Given the description of an element on the screen output the (x, y) to click on. 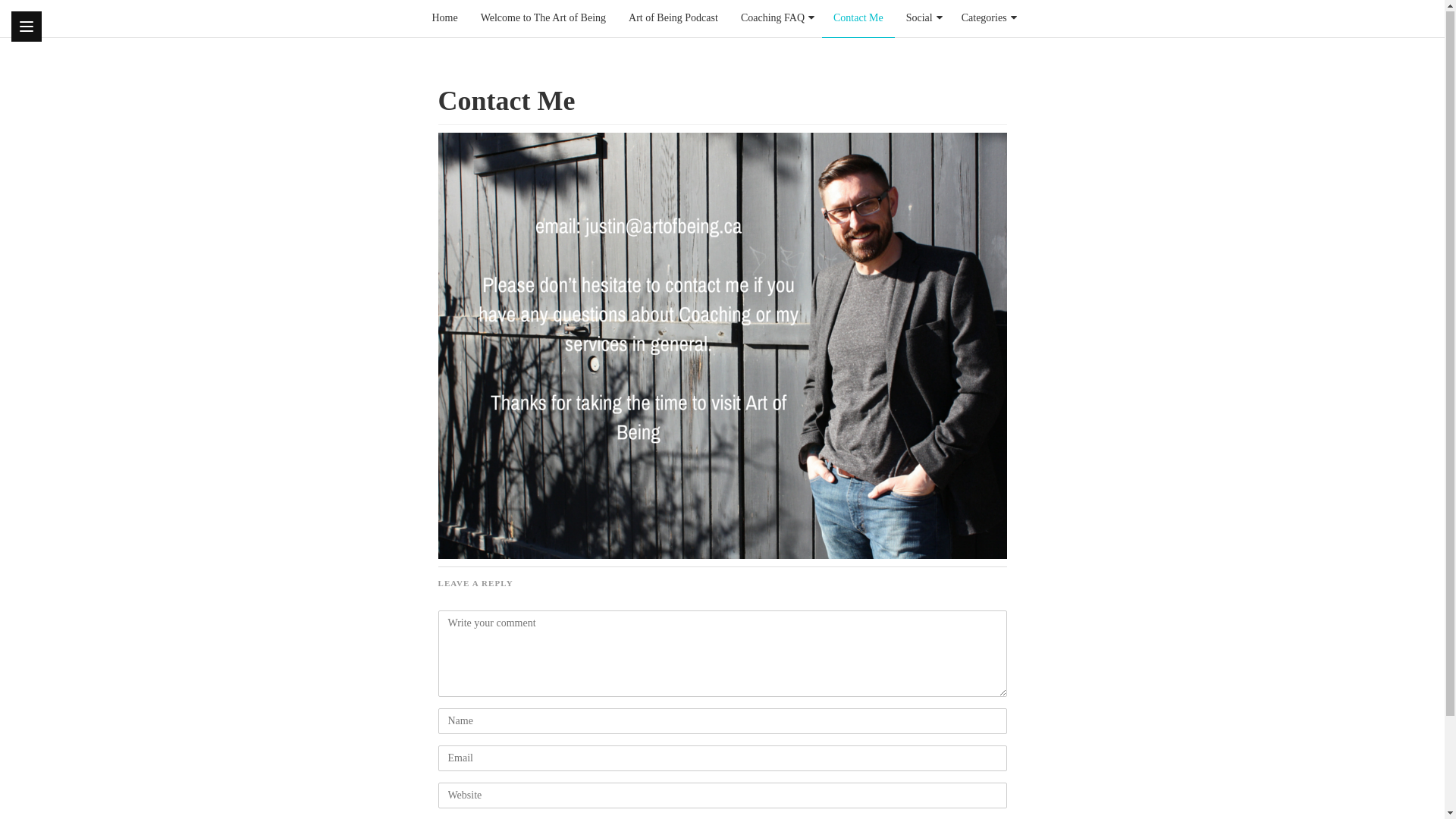
Social Element type: text (919, 18)
Welcome to The Art of Being Element type: text (543, 18)
Coaching FAQ Element type: text (772, 18)
Contact Me Element type: text (858, 18)
Categories Element type: text (984, 18)
Art of Being Podcast Element type: text (673, 18)
Home Element type: text (444, 18)
